Given the description of an element on the screen output the (x, y) to click on. 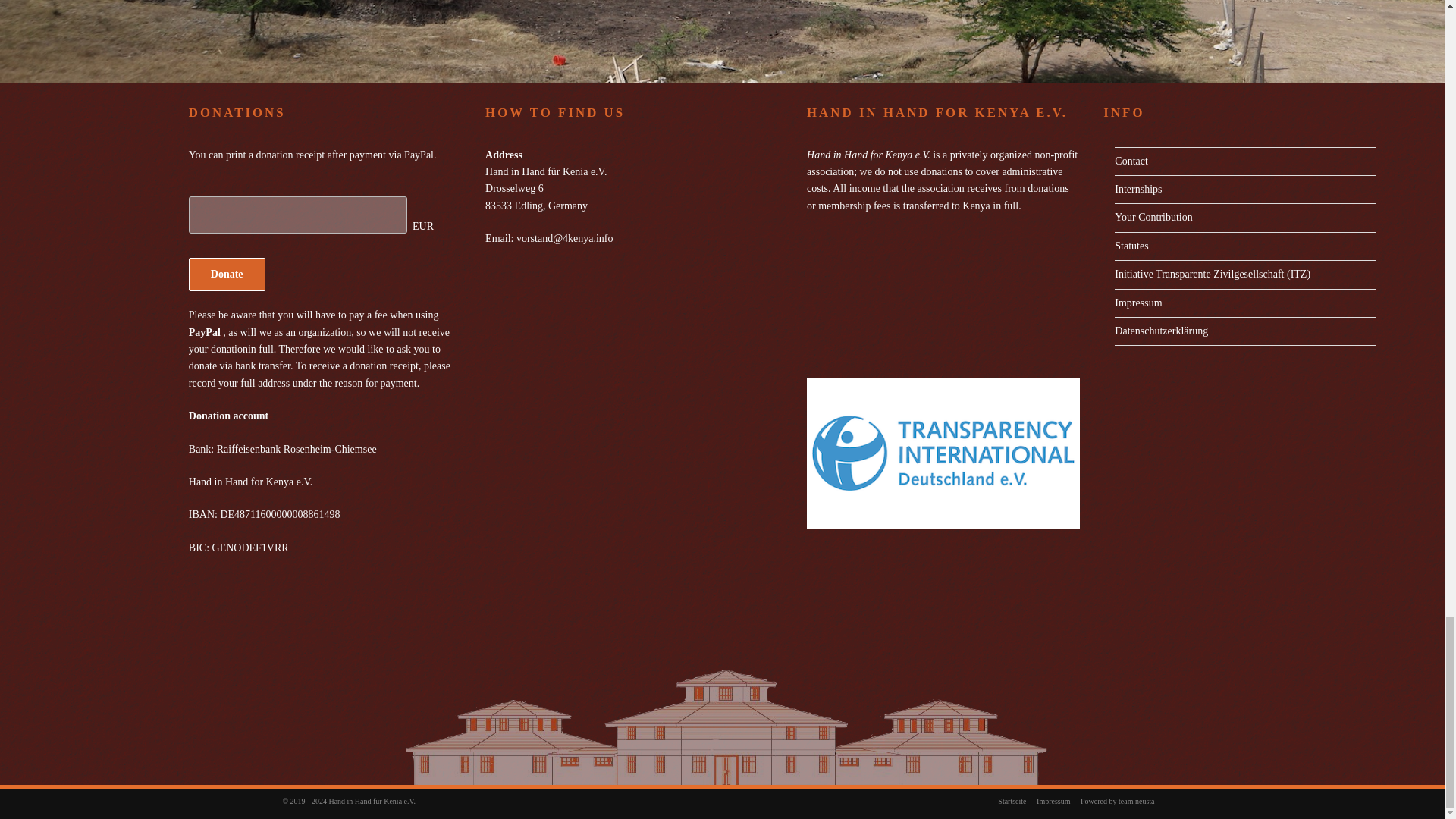
Donate (226, 274)
